Given the description of an element on the screen output the (x, y) to click on. 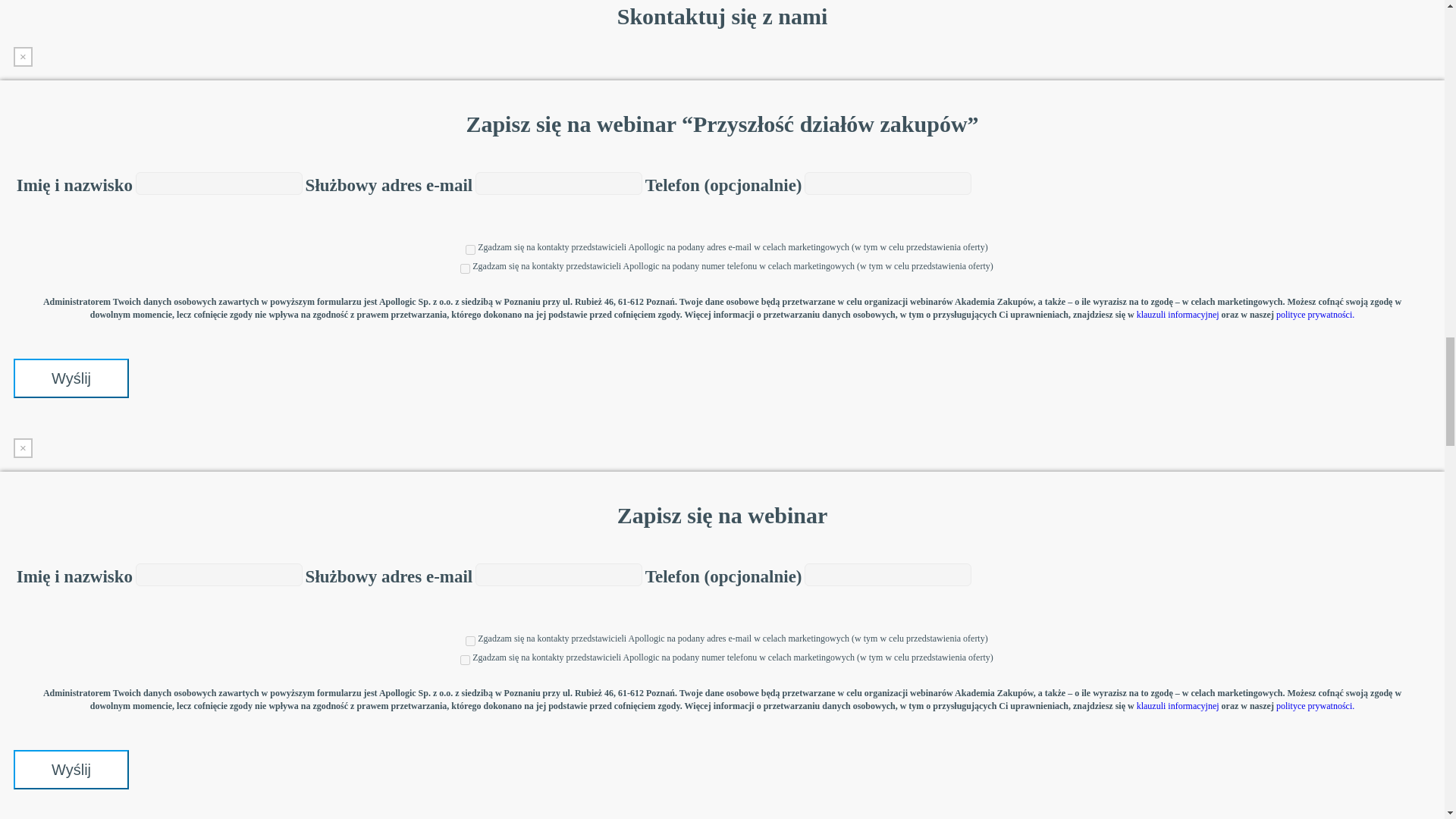
1 (470, 641)
1 (470, 249)
1 (465, 660)
1 (465, 268)
